Given the description of an element on the screen output the (x, y) to click on. 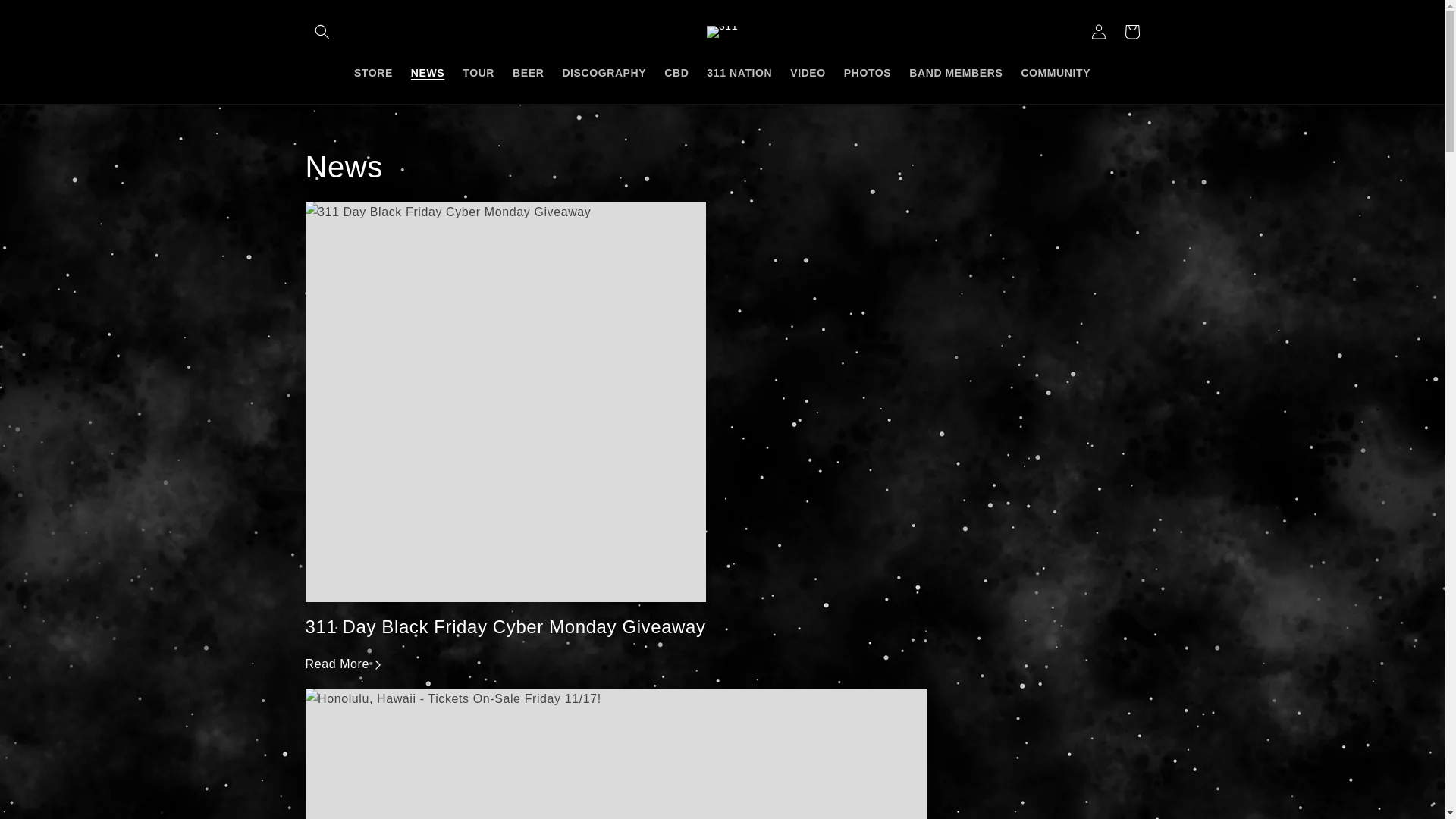
VIDEO Element type: text (807, 71)
DISCOGRAPHY Element type: text (603, 71)
Read More Element type: text (343, 663)
STORE Element type: text (373, 71)
Cart Element type: text (1131, 31)
TOUR Element type: text (478, 71)
BEER Element type: text (527, 71)
311 Day Black Friday Cyber Monday Giveaway Element type: text (504, 626)
BAND MEMBERS Element type: text (955, 71)
311 NATION Element type: text (739, 71)
NEWS Element type: text (427, 71)
COMMUNITY Element type: text (1055, 71)
CBD Element type: text (676, 71)
PHOTOS Element type: text (867, 71)
Log in Element type: text (1097, 31)
